Given the description of an element on the screen output the (x, y) to click on. 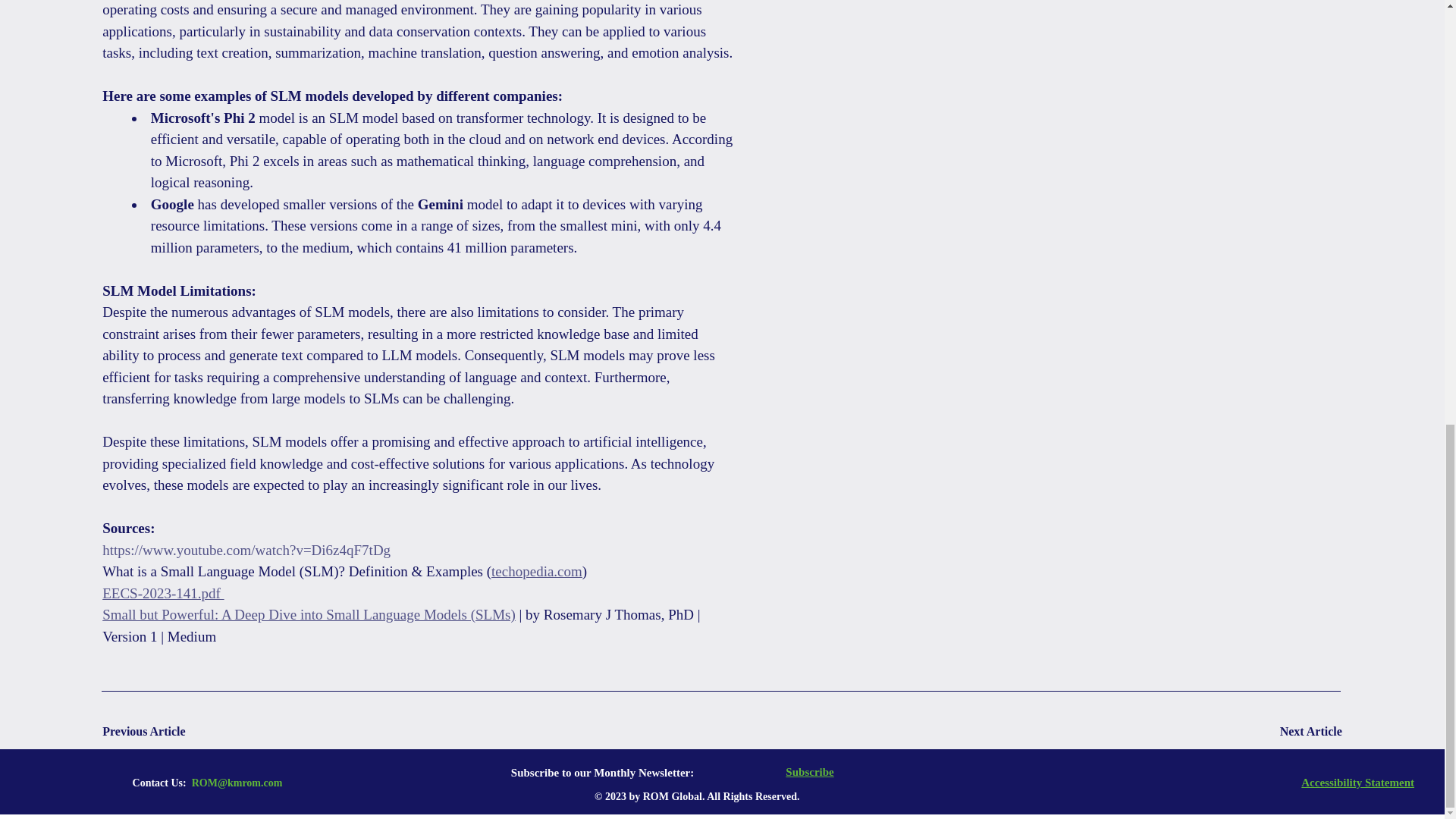
Next Article (1288, 731)
EECS-2023-141.pdf  (162, 593)
techopedia.com (537, 571)
Previous Article (155, 731)
